Given the description of an element on the screen output the (x, y) to click on. 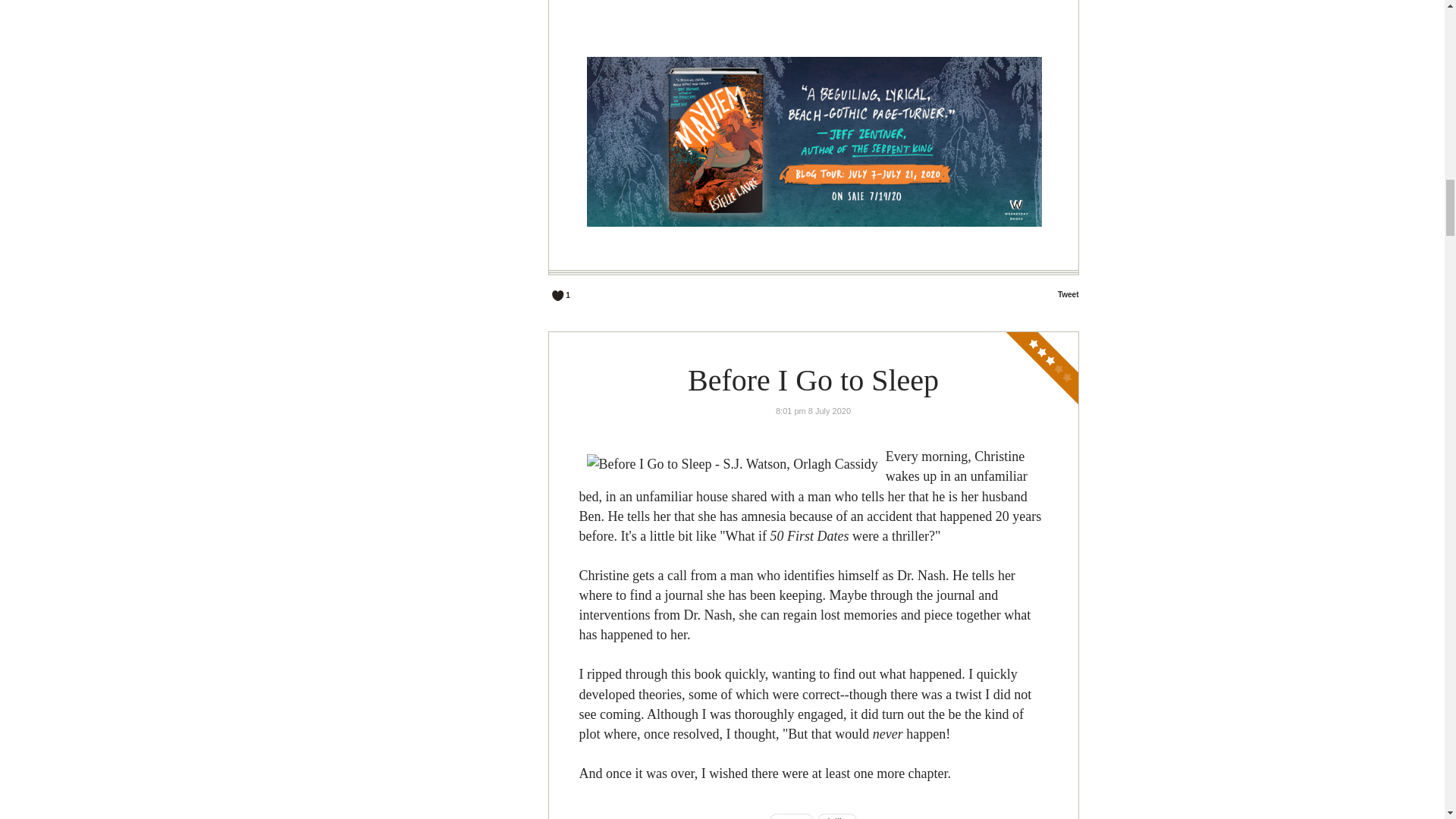
Before I Go to Sleep (813, 380)
thriller (836, 816)
8:01 pm 8 July 2020 (813, 410)
Tweet (1068, 294)
mystery (791, 816)
